Given the description of an element on the screen output the (x, y) to click on. 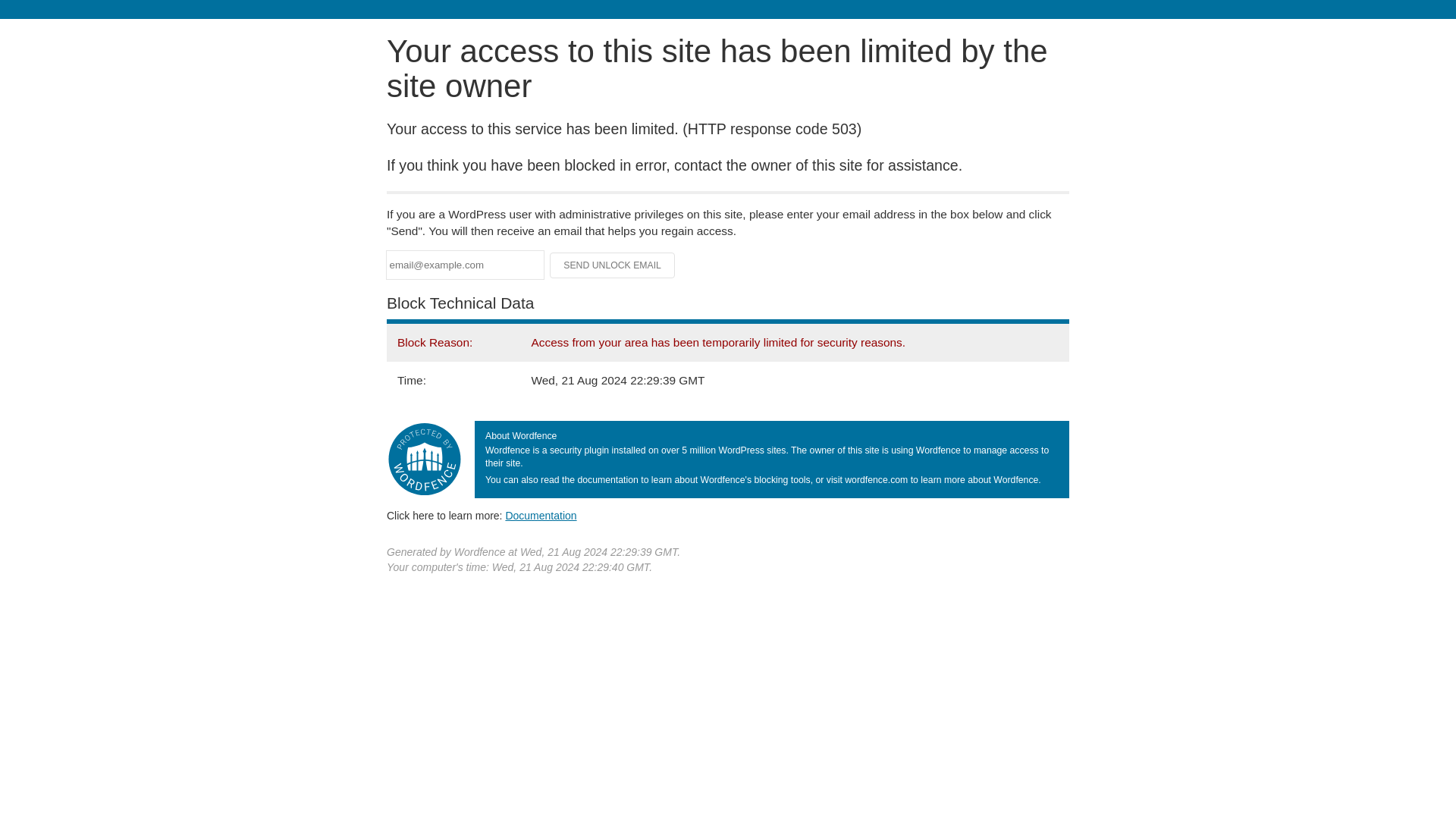
Documentation (540, 515)
Send Unlock Email (612, 265)
Send Unlock Email (612, 265)
